Given the description of an element on the screen output the (x, y) to click on. 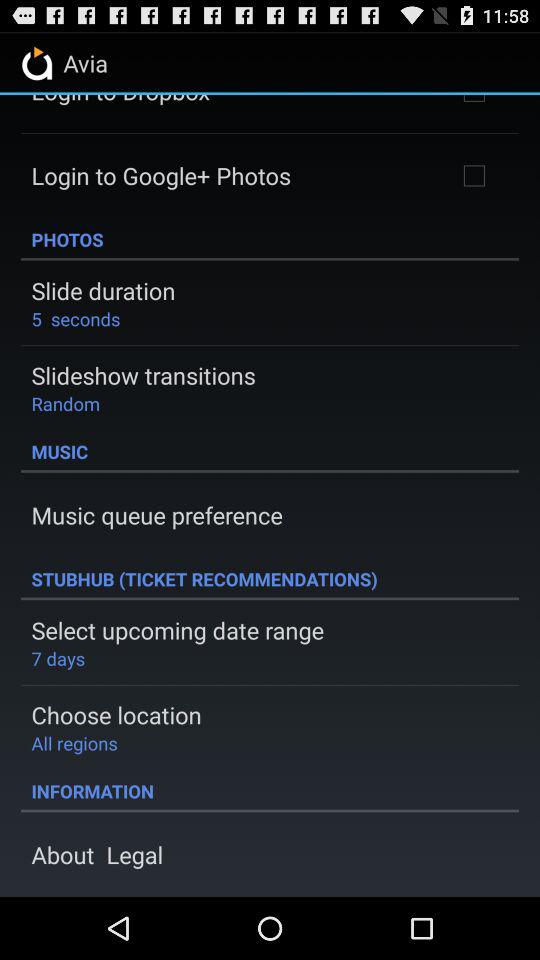
open the app below slideshow transitions item (65, 403)
